Given the description of an element on the screen output the (x, y) to click on. 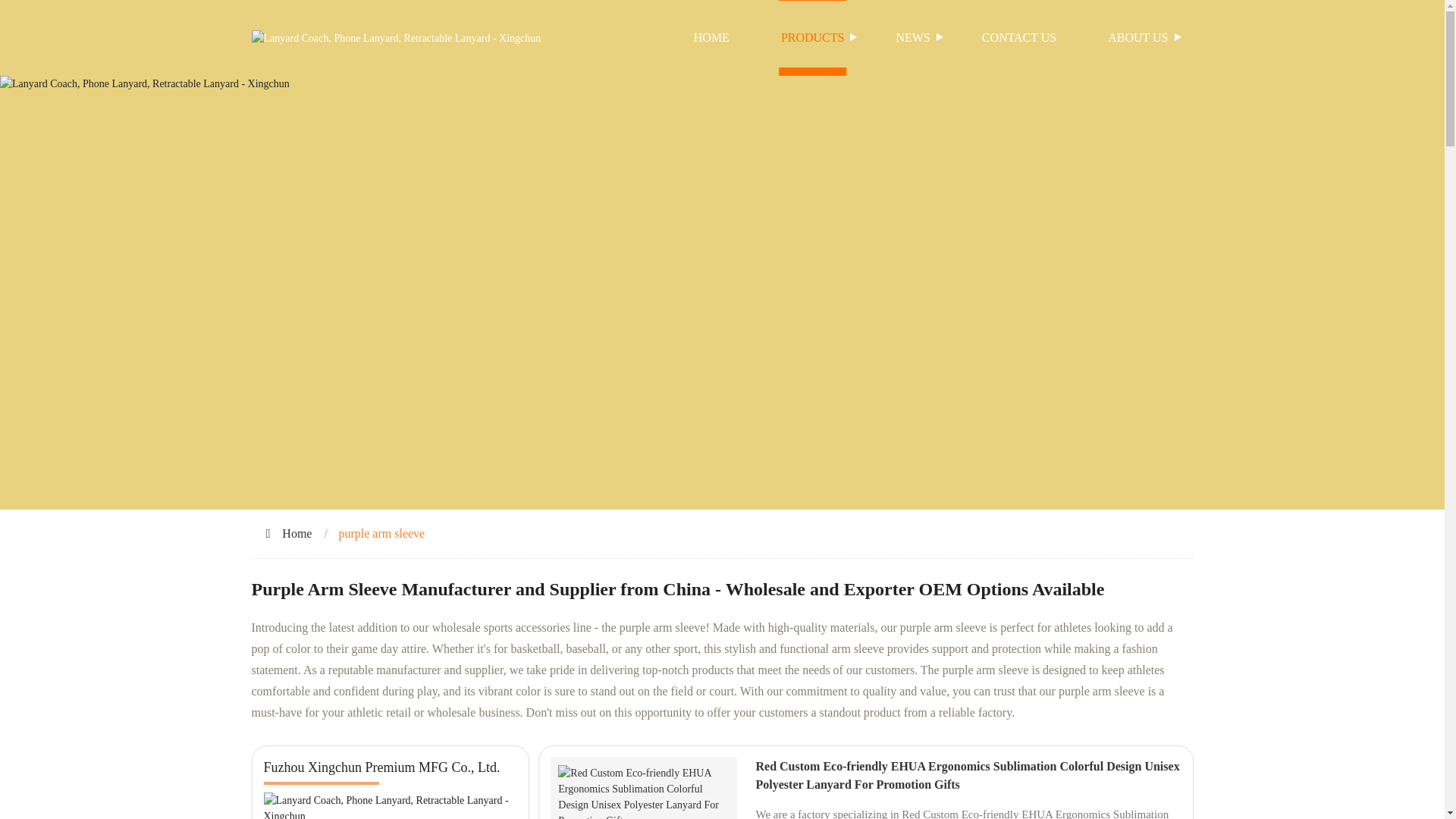
PRODUCTS (812, 38)
Home (296, 532)
CONTACT US (1018, 38)
